Given the description of an element on the screen output the (x, y) to click on. 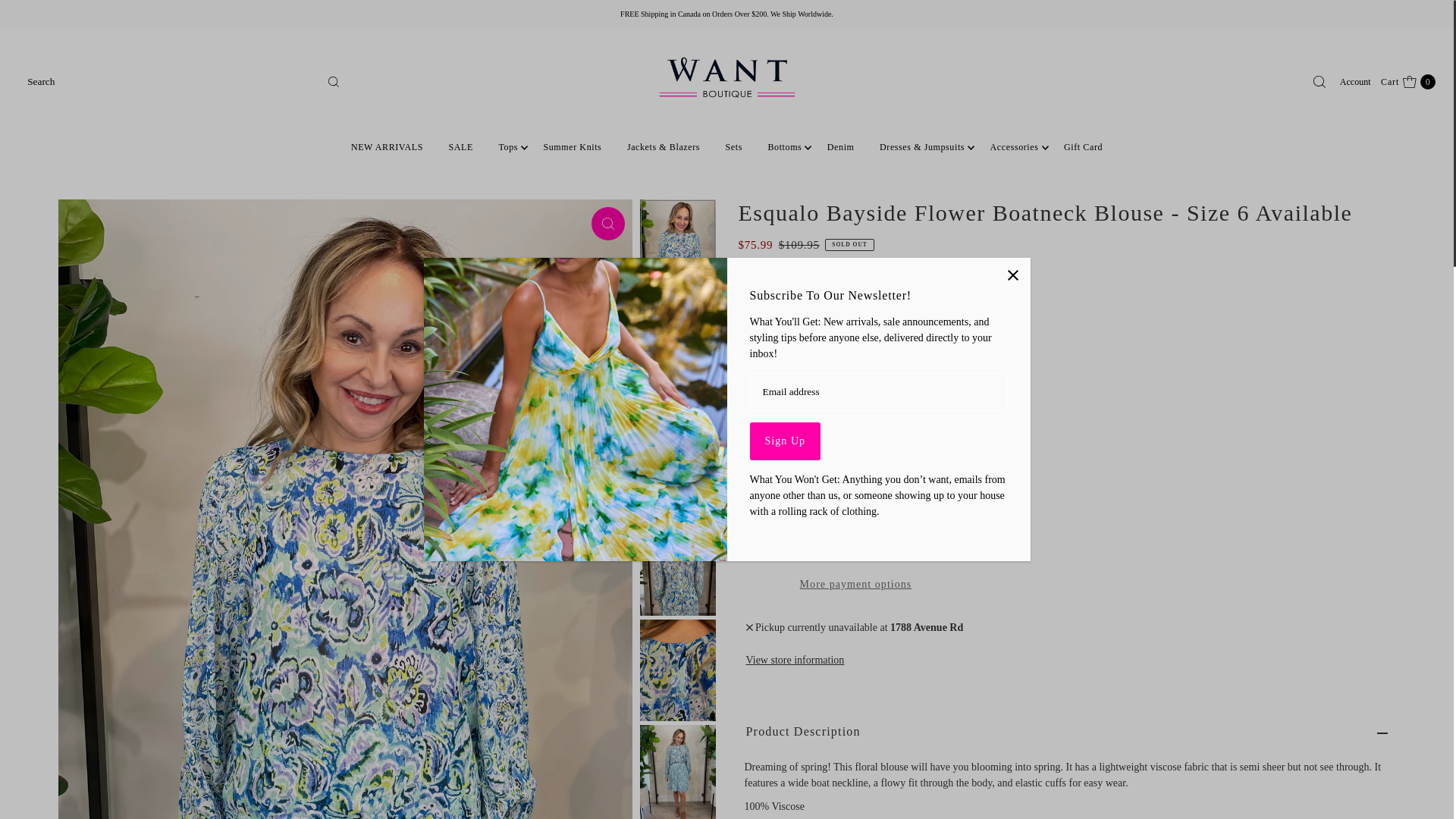
Tops (507, 147)
Sold Out (856, 491)
Click to zoom (607, 223)
SALE (461, 147)
NEW ARRIVALS (386, 147)
1 (1408, 81)
Sign Up (775, 440)
Account (785, 441)
